Given the description of an element on the screen output the (x, y) to click on. 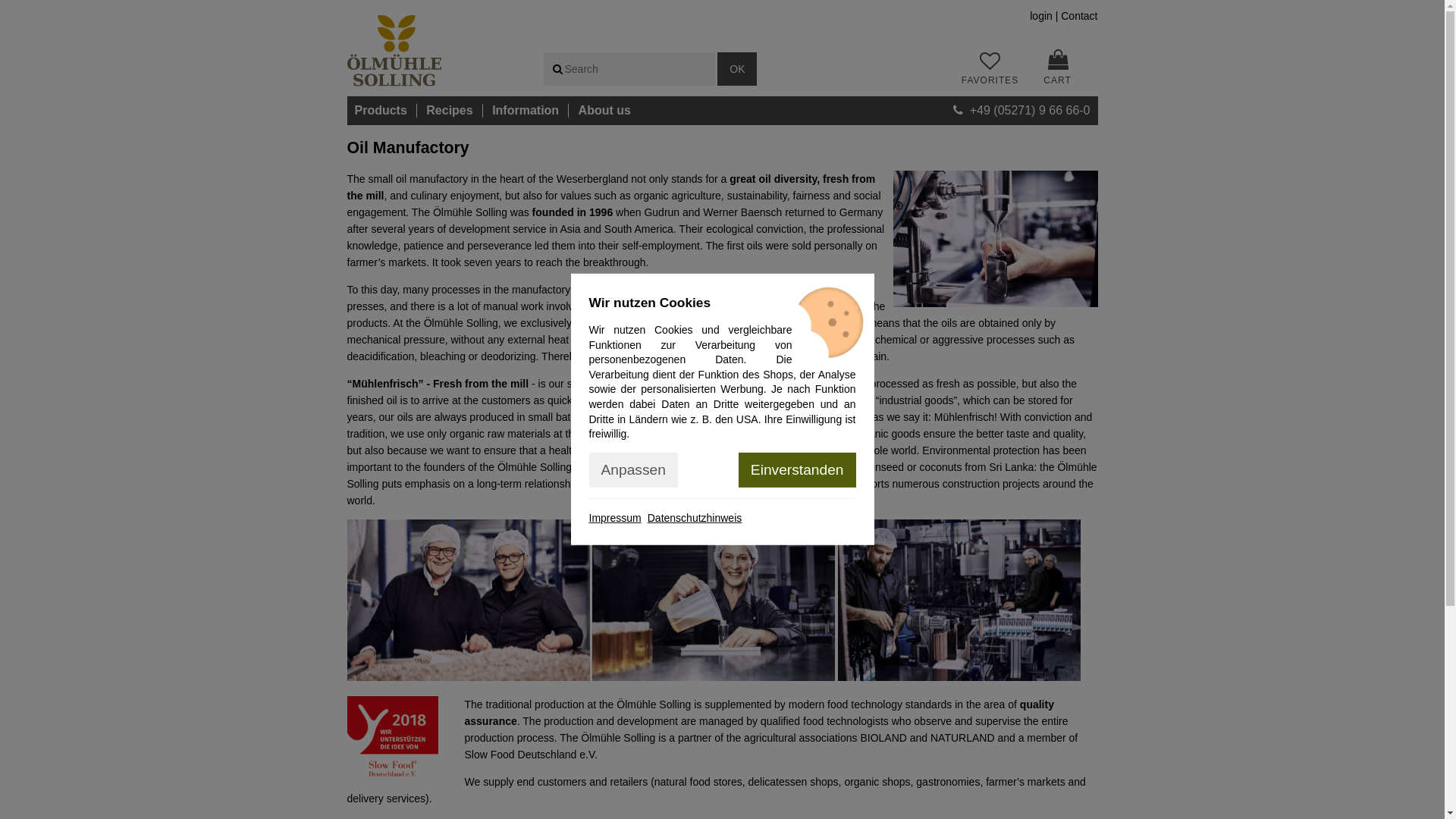
Contact (1079, 15)
FAVORITES (998, 66)
login (1040, 15)
Recipes (448, 110)
CART (1057, 70)
OK (737, 68)
